Given the description of an element on the screen output the (x, y) to click on. 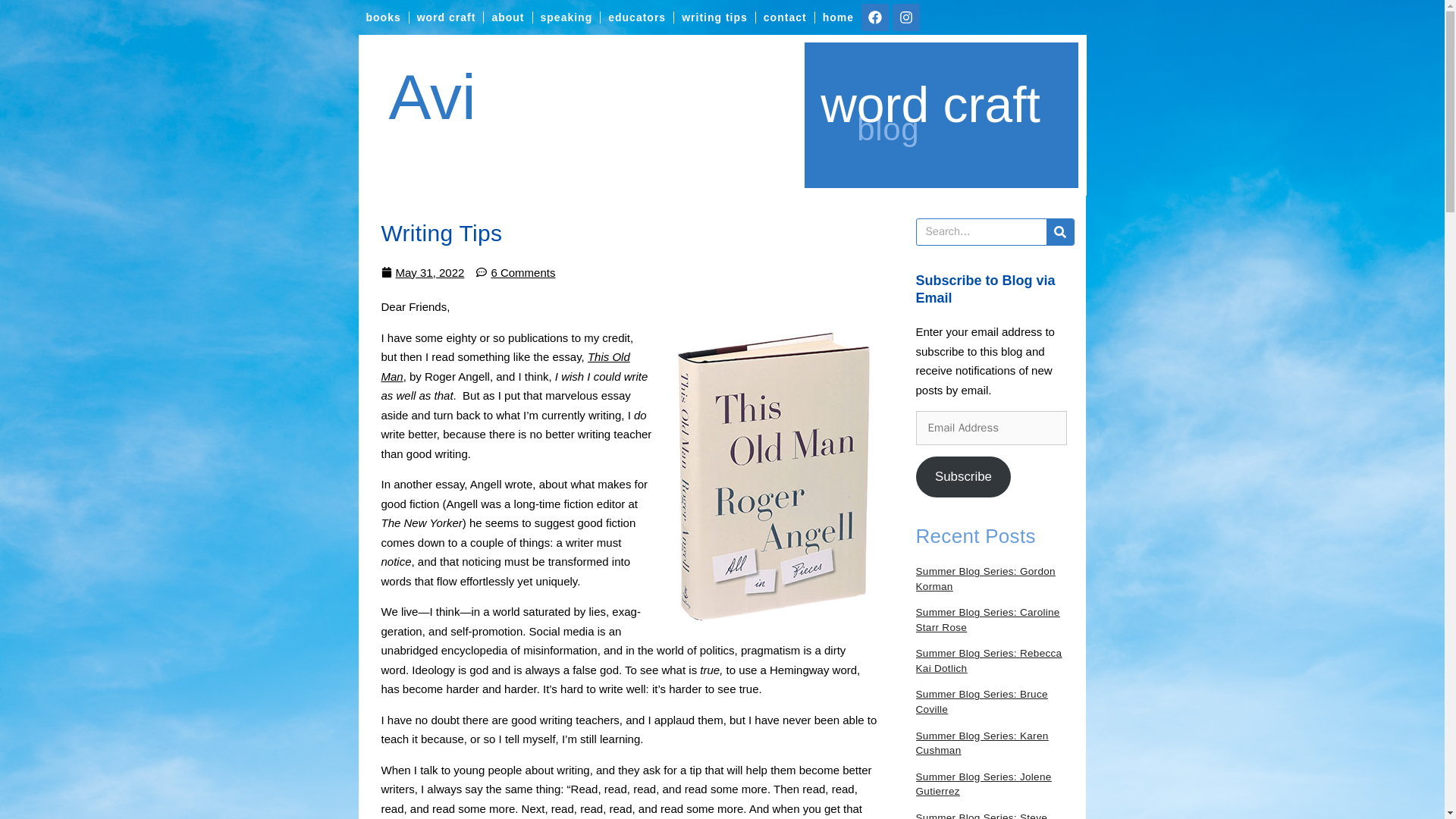
word craft (446, 17)
writing tips (714, 17)
educators (635, 17)
speaking (565, 17)
home (838, 17)
contact (784, 17)
about (507, 17)
books (382, 17)
